Given the description of an element on the screen output the (x, y) to click on. 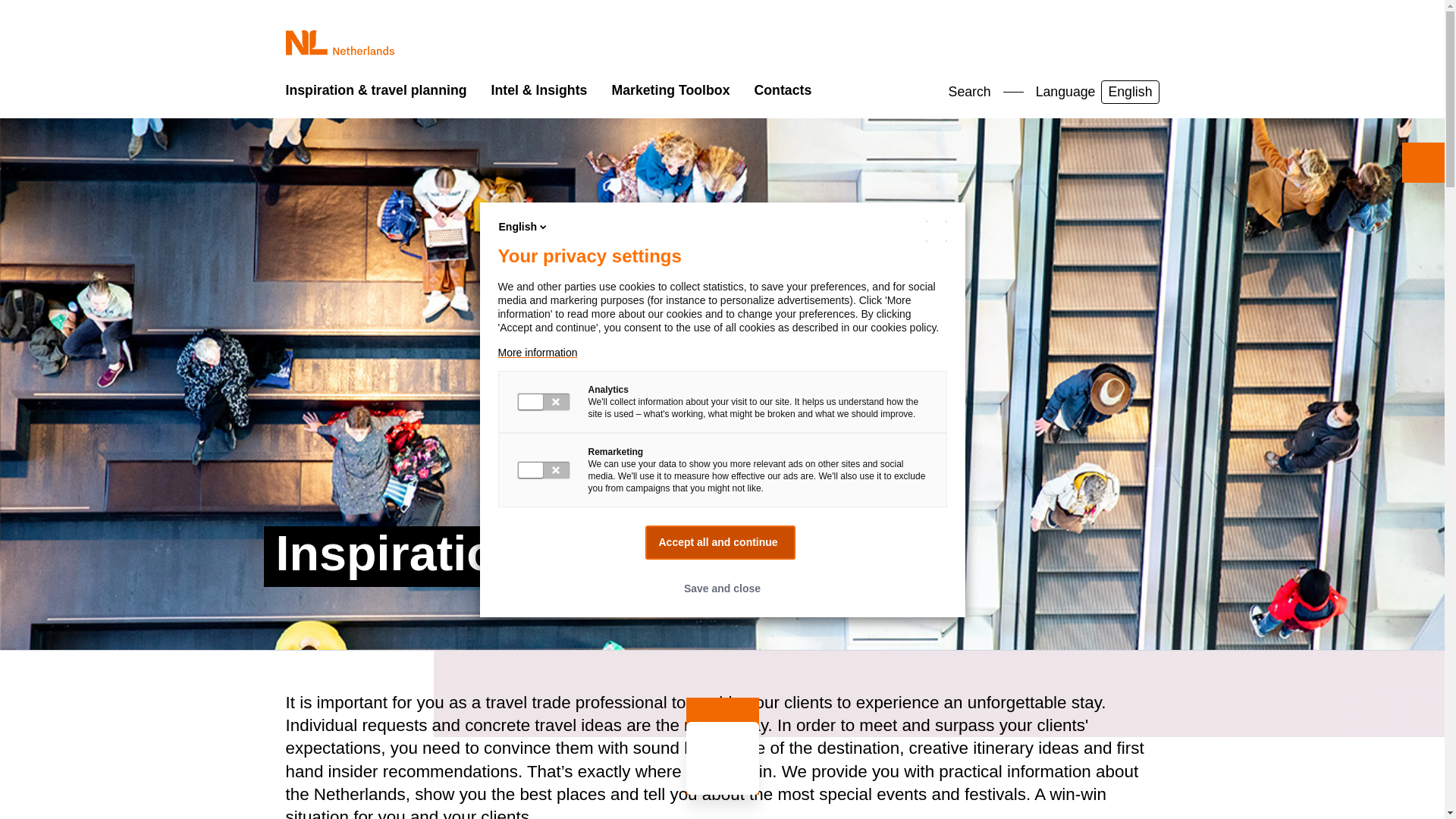
Marketing Toolbox (670, 90)
Travel Trade (339, 43)
Contacts (782, 90)
This is NL (317, 105)
Search (1096, 91)
Continue to (957, 91)
